Given the description of an element on the screen output the (x, y) to click on. 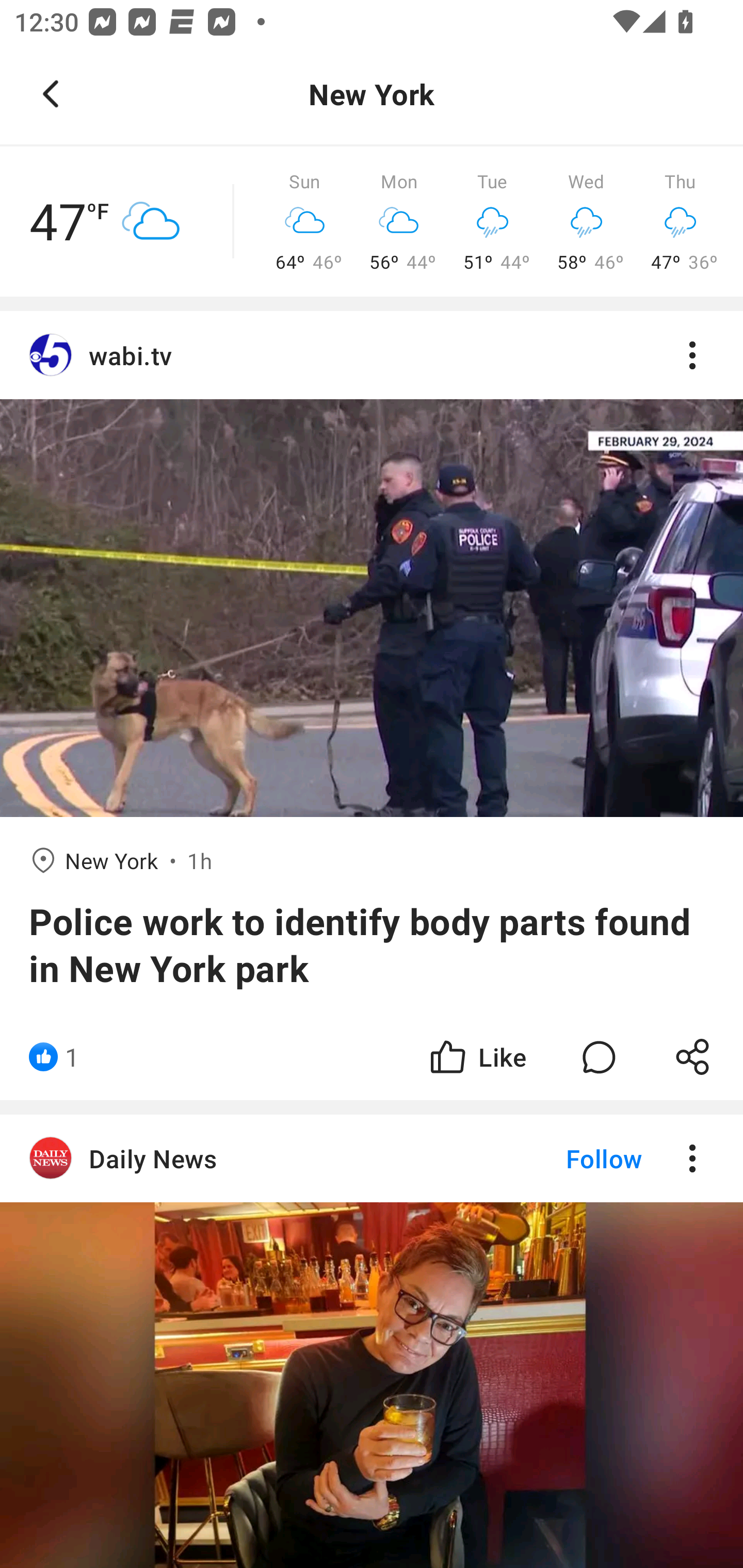
Navigate up (50, 93)
Sun 64º 46º (304, 221)
Mon 56º 44º (398, 221)
Tue 51º 44º (492, 221)
Wed 58º 46º (586, 221)
Thu 47º 36º (680, 221)
wabi.tv (371, 355)
1 (72, 1056)
Like (476, 1056)
Daily News Follow (371, 1341)
Daily News Follow (371, 1158)
Follow (569, 1158)
